Given the description of an element on the screen output the (x, y) to click on. 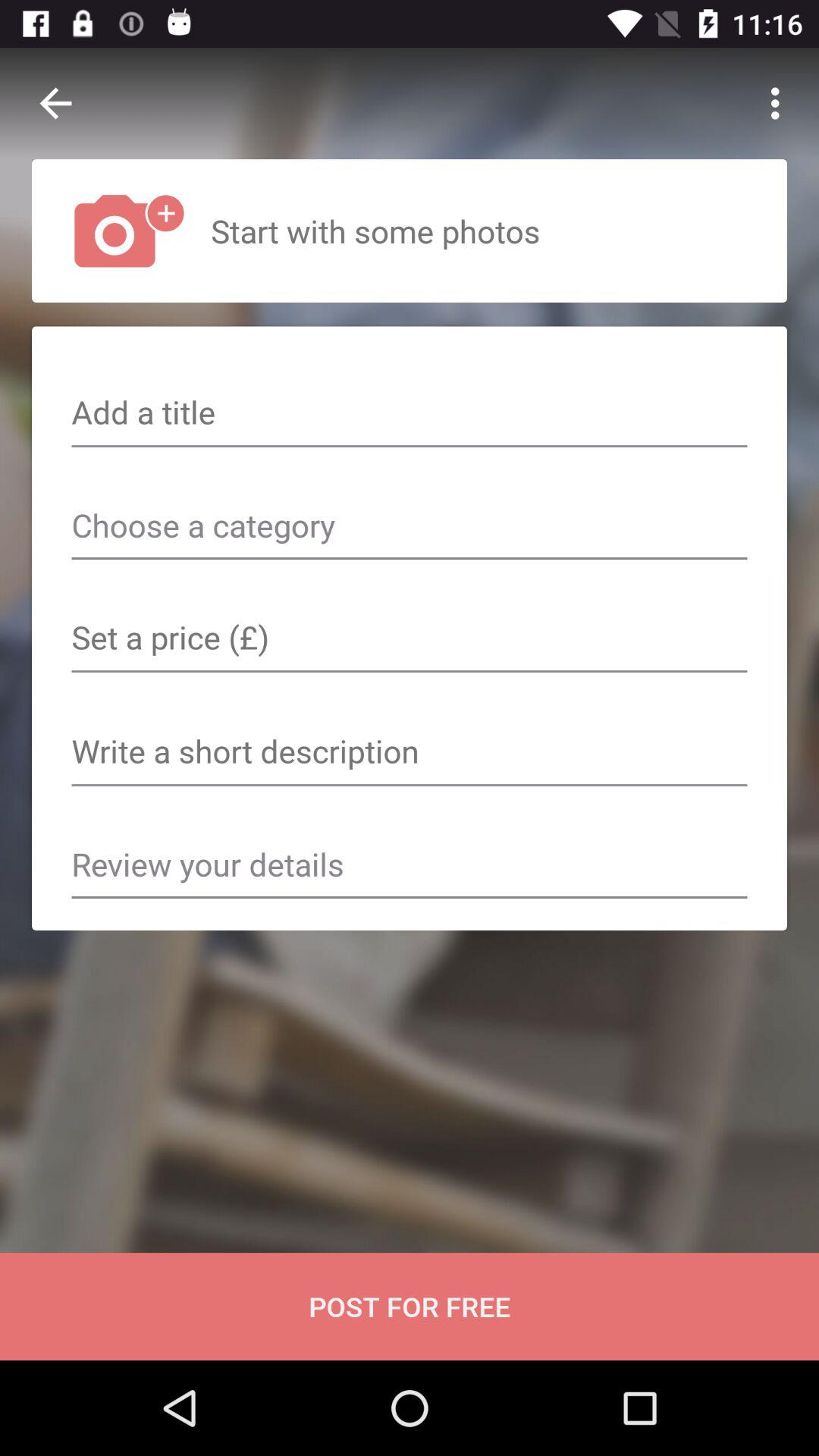
click the icon at the top right corner (779, 103)
